Given the description of an element on the screen output the (x, y) to click on. 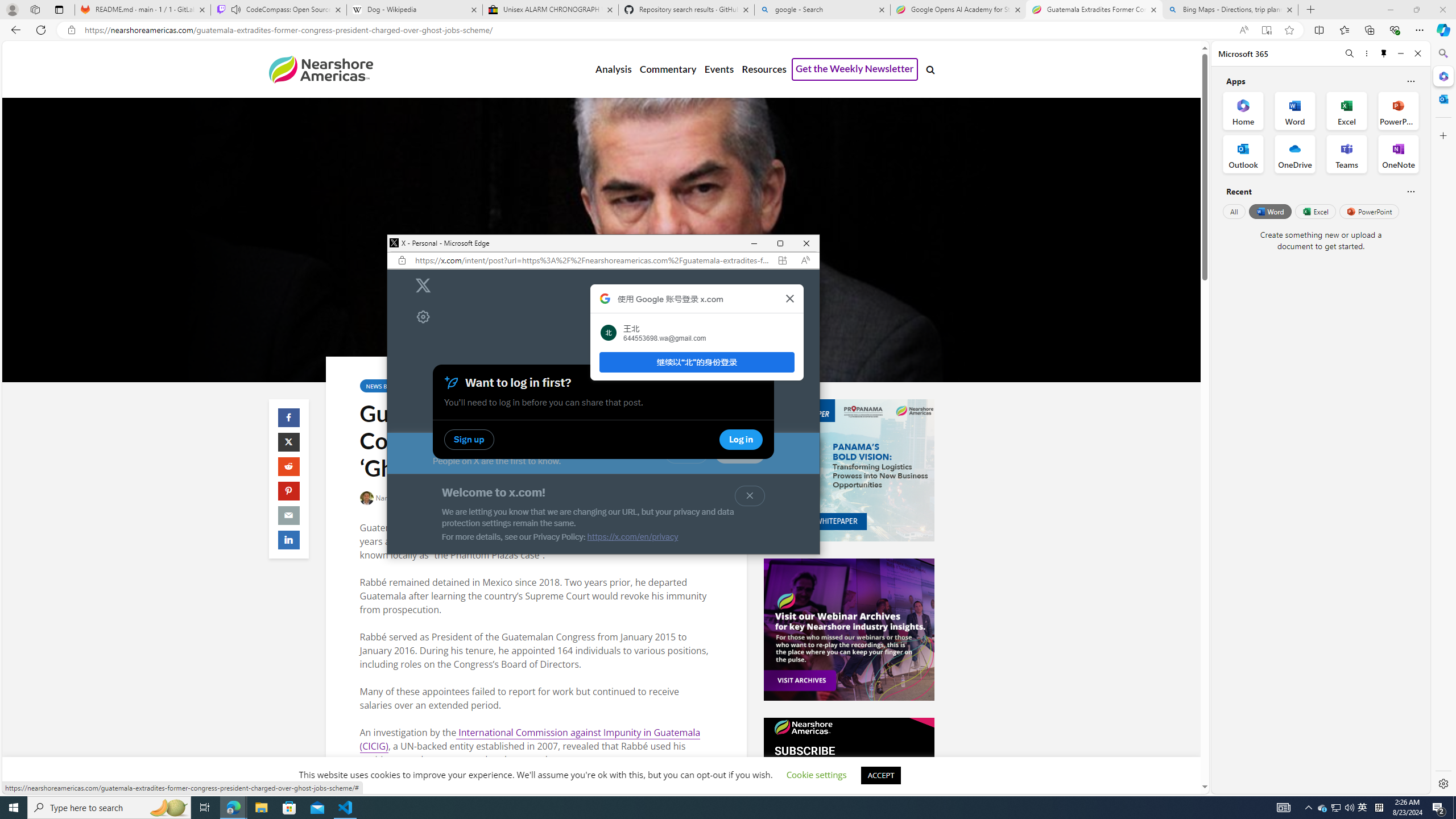
PowerPoint Office App (1398, 110)
Events (718, 69)
Nearshore Americas (319, 68)
Maximize (780, 243)
All (1233, 210)
Word Office App (1295, 110)
